Given the description of an element on the screen output the (x, y) to click on. 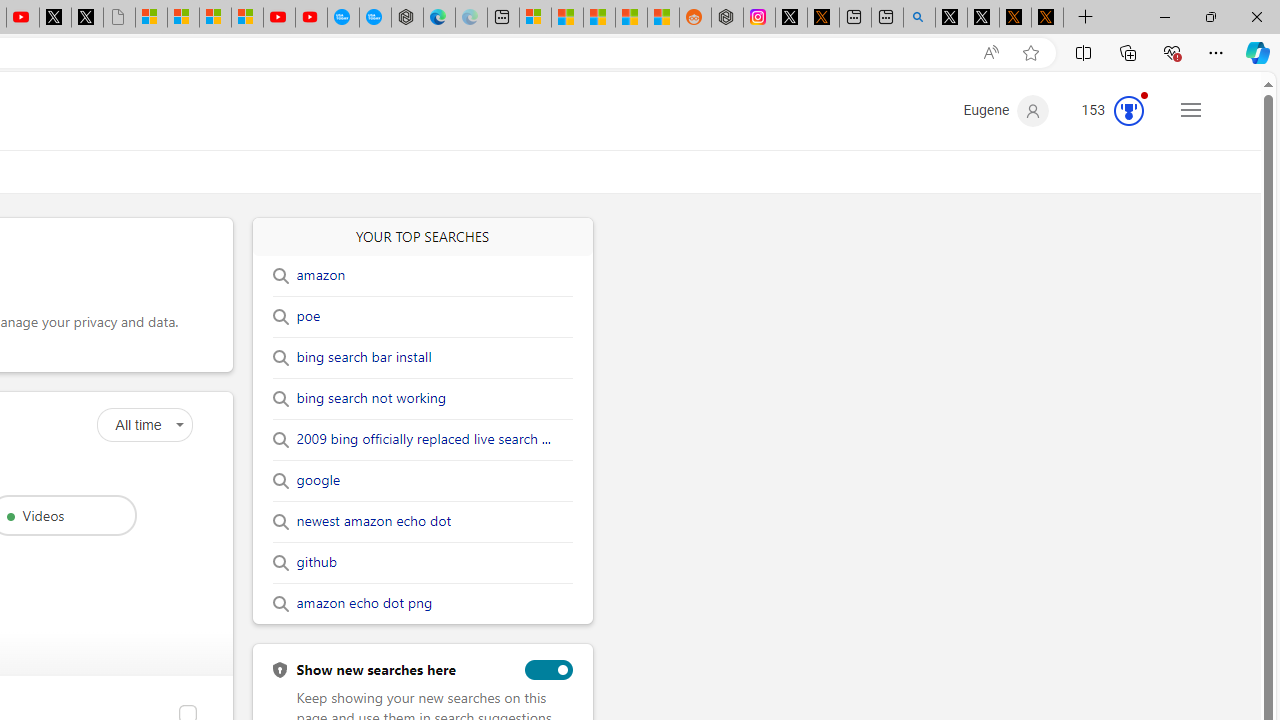
Shanghai, China weather forecast | Microsoft Weather (566, 17)
Minimize (1164, 16)
Read aloud this page (Ctrl+Shift+U) (991, 53)
Untitled (118, 17)
